Given the description of an element on the screen output the (x, y) to click on. 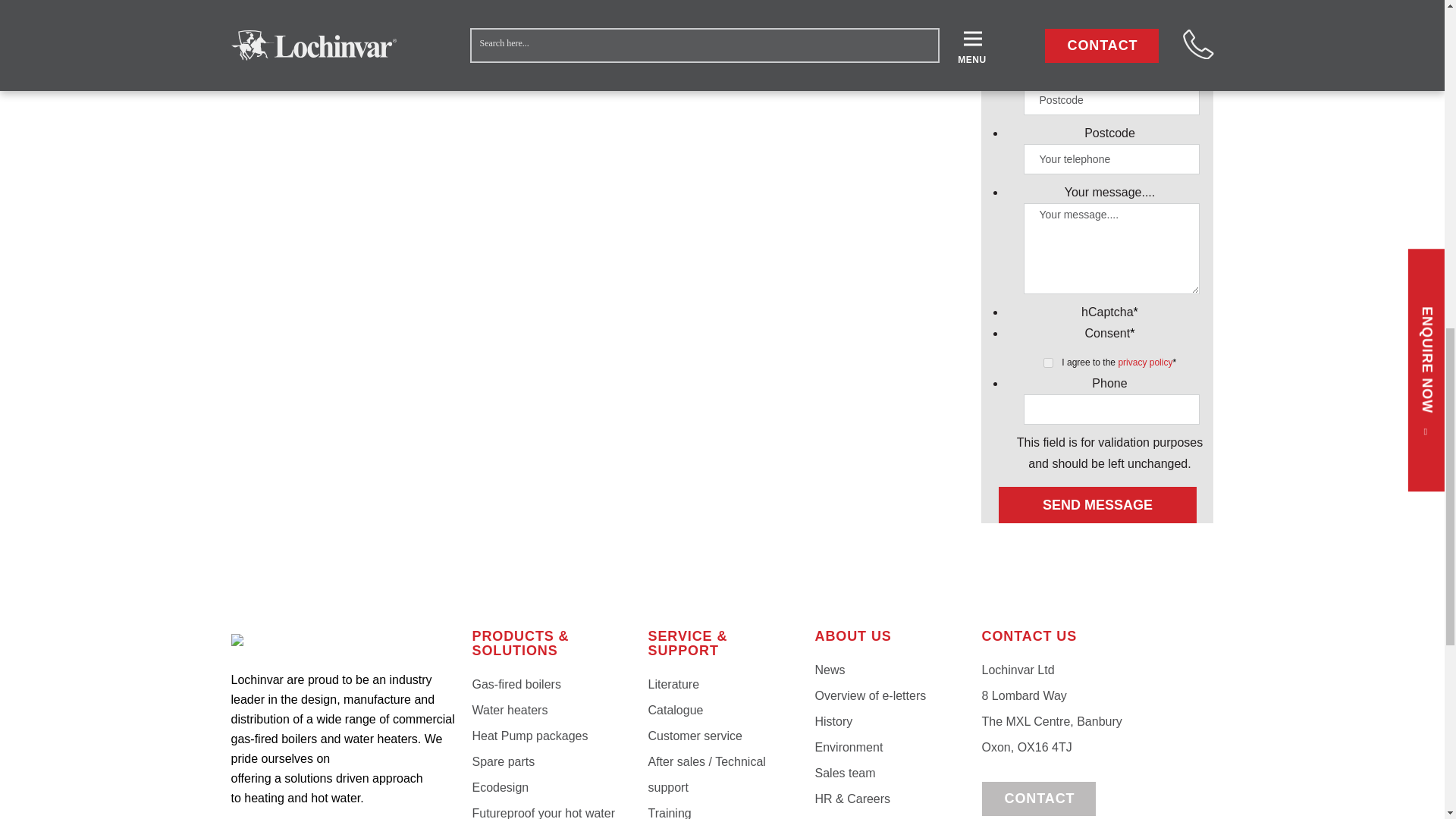
Send message (1096, 504)
1 (1047, 362)
